Given the description of an element on the screen output the (x, y) to click on. 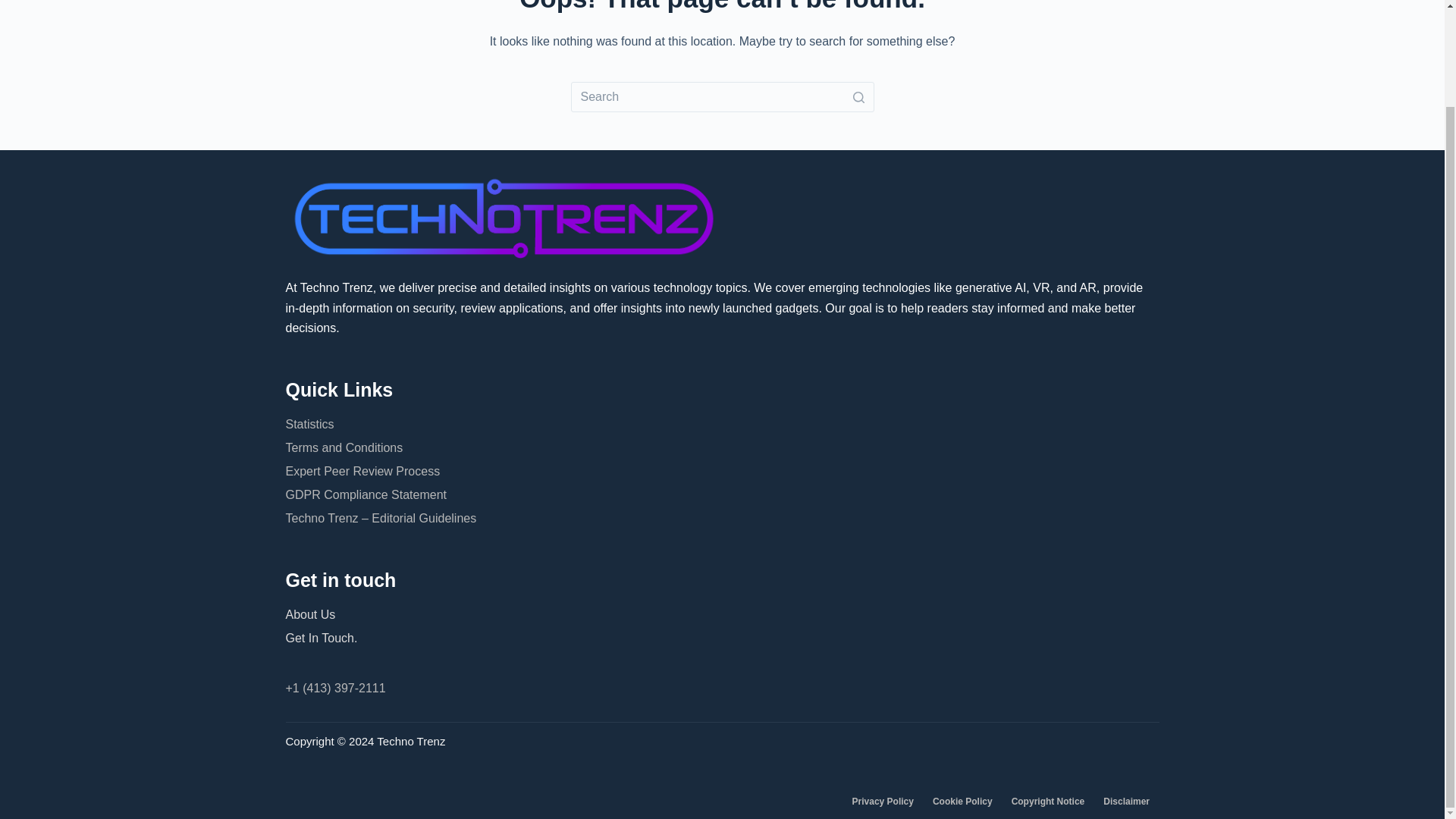
Search Input (721, 96)
